Given the description of an element on the screen output the (x, y) to click on. 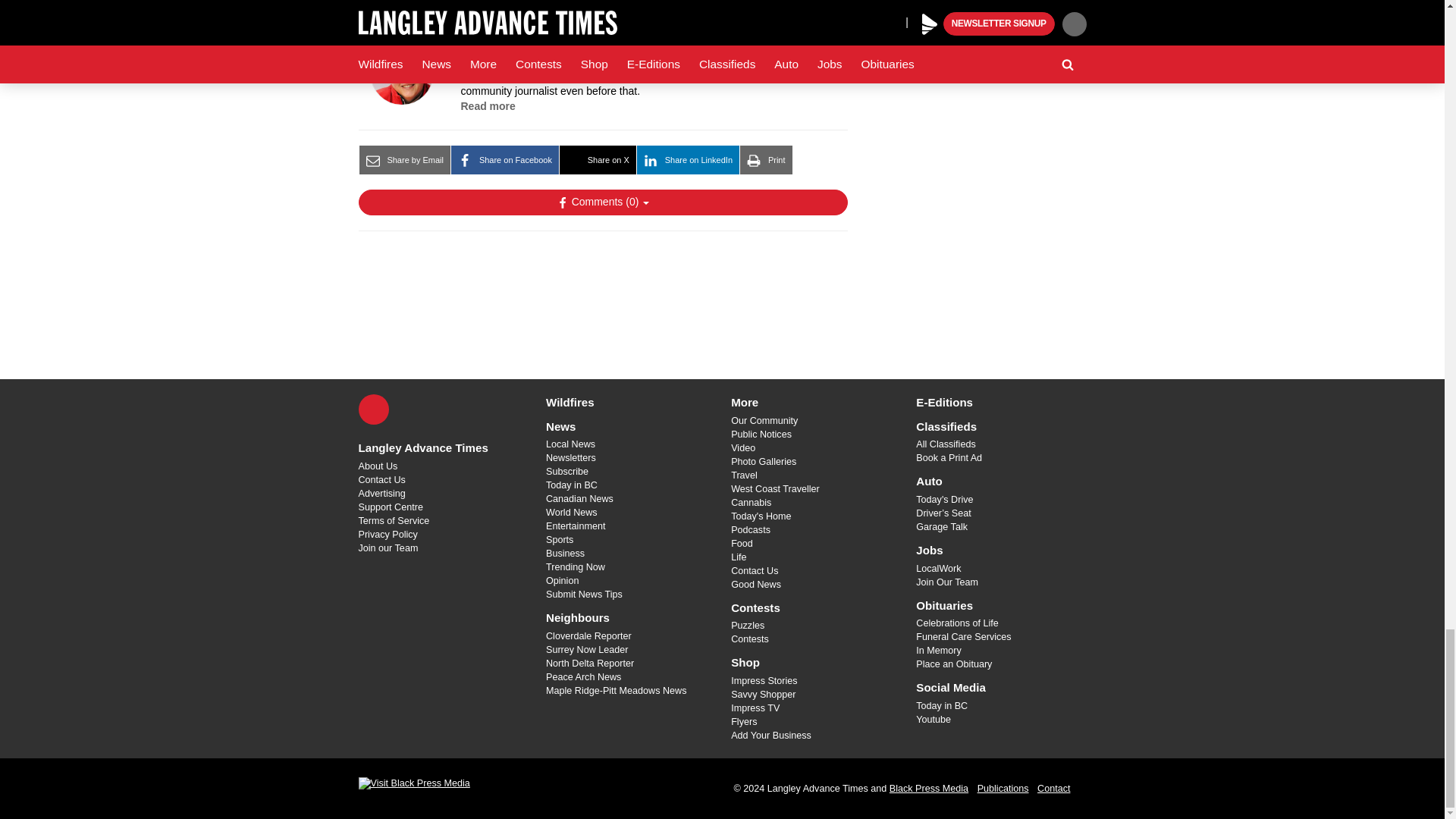
X (373, 409)
Show Comments (602, 202)
